Given the description of an element on the screen output the (x, y) to click on. 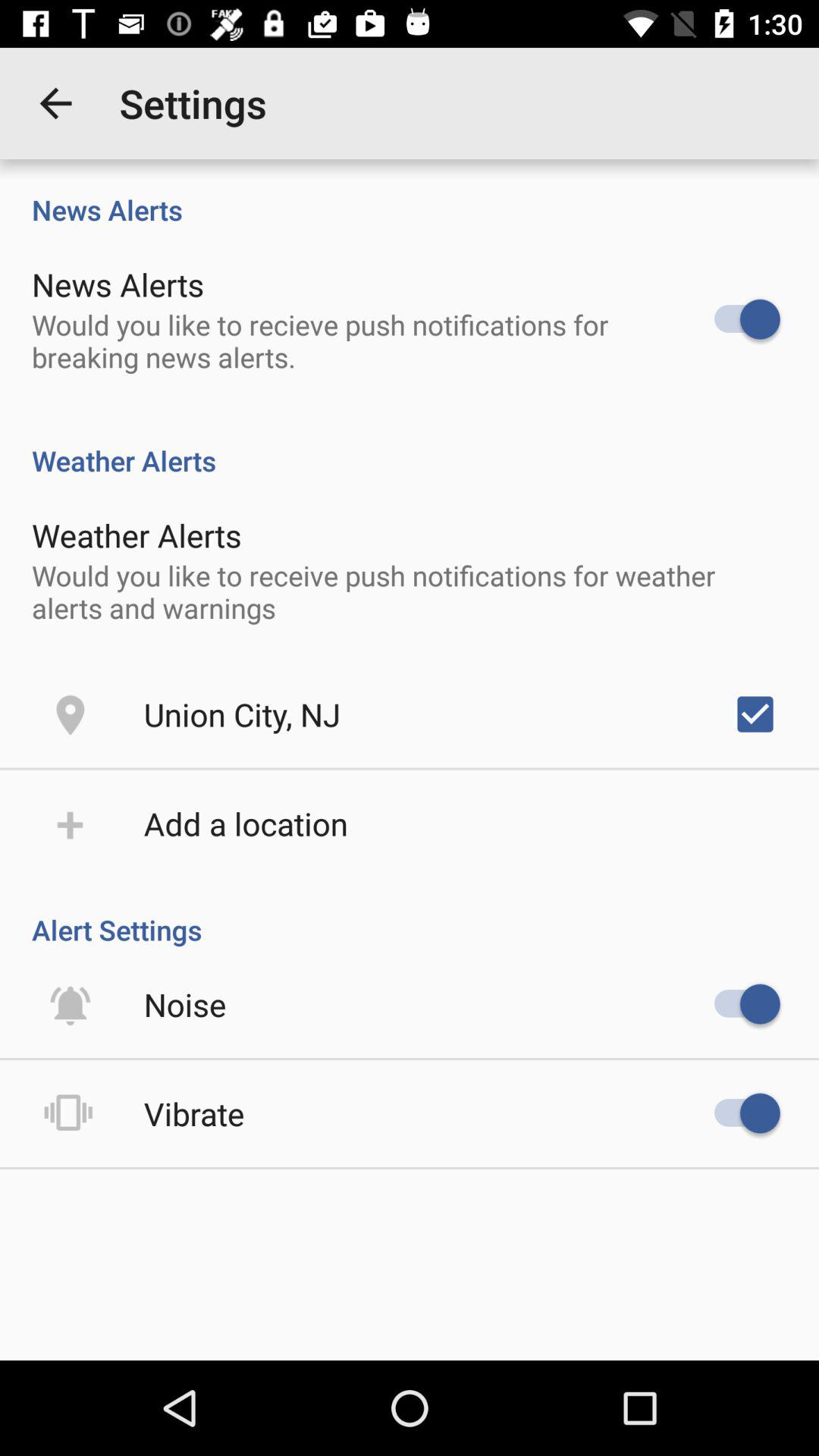
scroll to the vibrate icon (193, 1113)
